Given the description of an element on the screen output the (x, y) to click on. 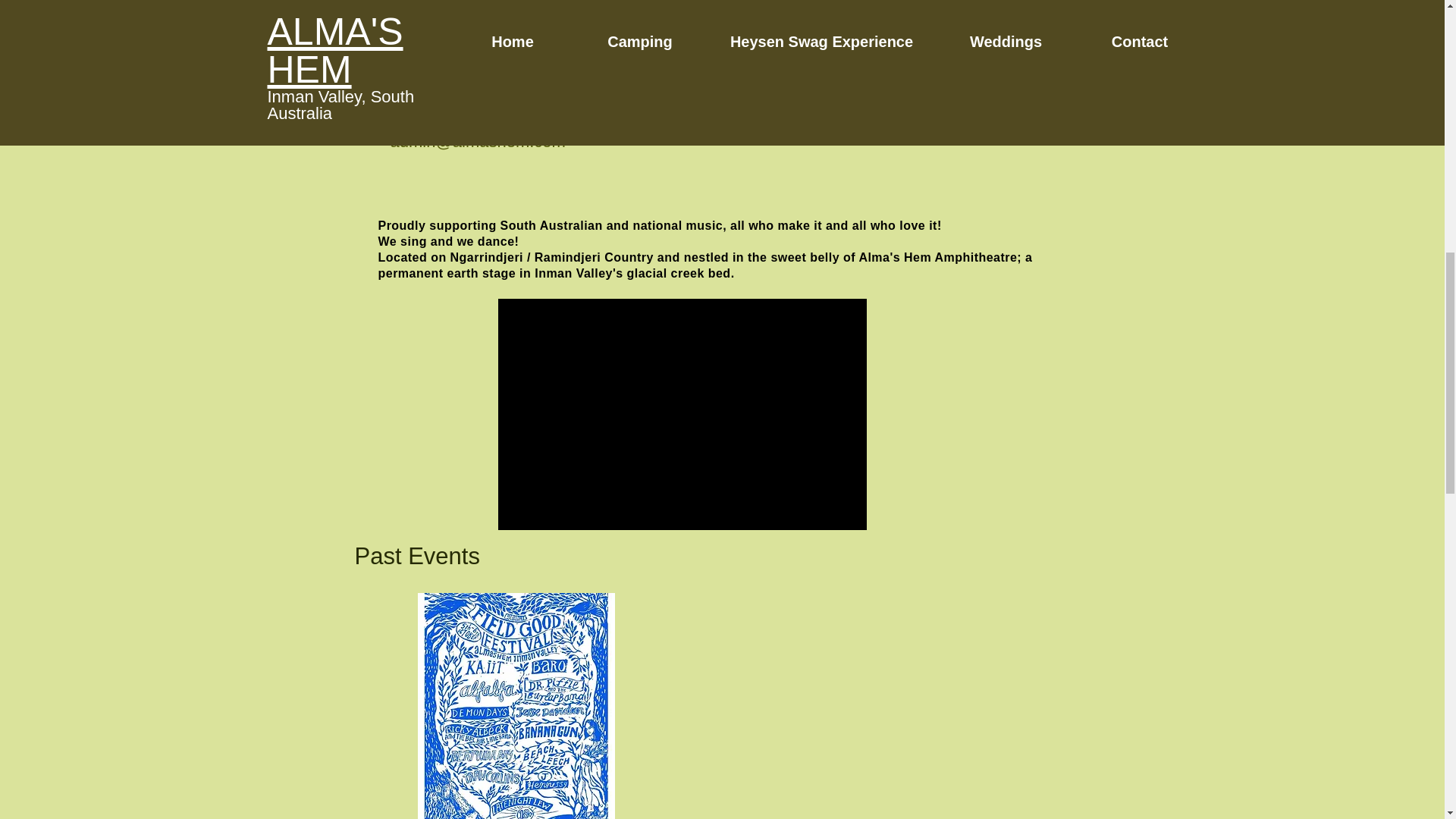
Image.webp (601, 27)
External YouTube (681, 414)
Tickets (964, 18)
